Given the description of an element on the screen output the (x, y) to click on. 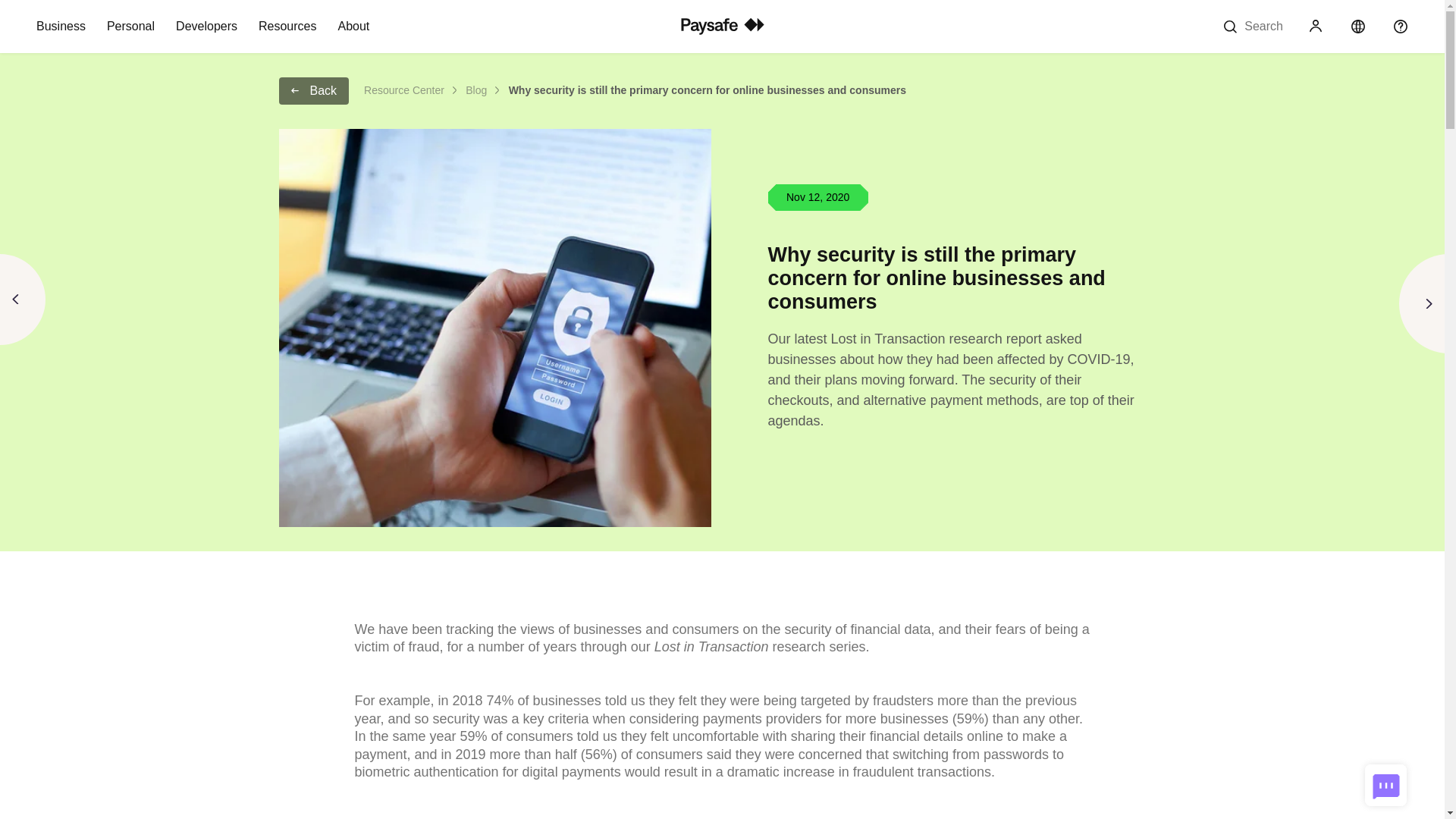
Business (60, 26)
Developers (206, 26)
Resources (286, 26)
Personal (130, 26)
